Given the description of an element on the screen output the (x, y) to click on. 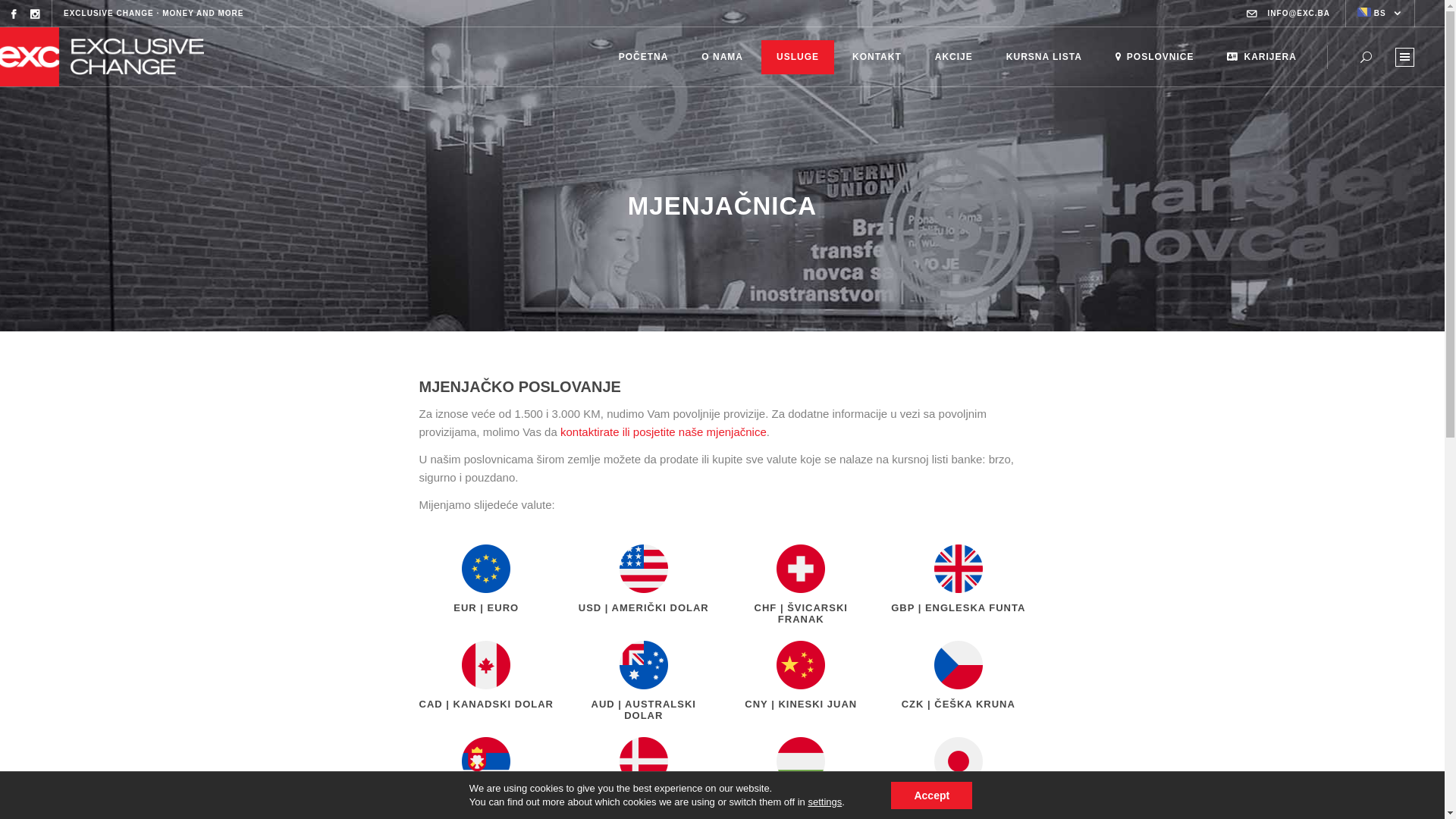
china Element type: hover (800, 664)
united-states-of-america Element type: hover (643, 568)
canada Element type: hover (485, 664)
japan Element type: hover (958, 761)
czech-republic Element type: hover (958, 664)
BS Element type: text (1380, 13)
INFO@EXC.BA Element type: text (1298, 13)
serbia Element type: hover (485, 761)
hungary Element type: hover (800, 761)
KONTAKT Element type: text (876, 56)
POSLOVNICE Element type: text (1154, 56)
  Element type: text (1404, 56)
O NAMA Element type: text (722, 56)
AKCIJE Element type: text (953, 56)
european-union Element type: hover (485, 568)
australia Element type: hover (643, 664)
united-kingdom Element type: hover (958, 568)
KURSNA LISTA Element type: text (1044, 56)
Accept Element type: text (931, 795)
switzerland Element type: hover (800, 568)
denmark Element type: hover (643, 761)
KARIJERA Element type: text (1261, 56)
USLUGE Element type: text (797, 56)
